Given the description of an element on the screen output the (x, y) to click on. 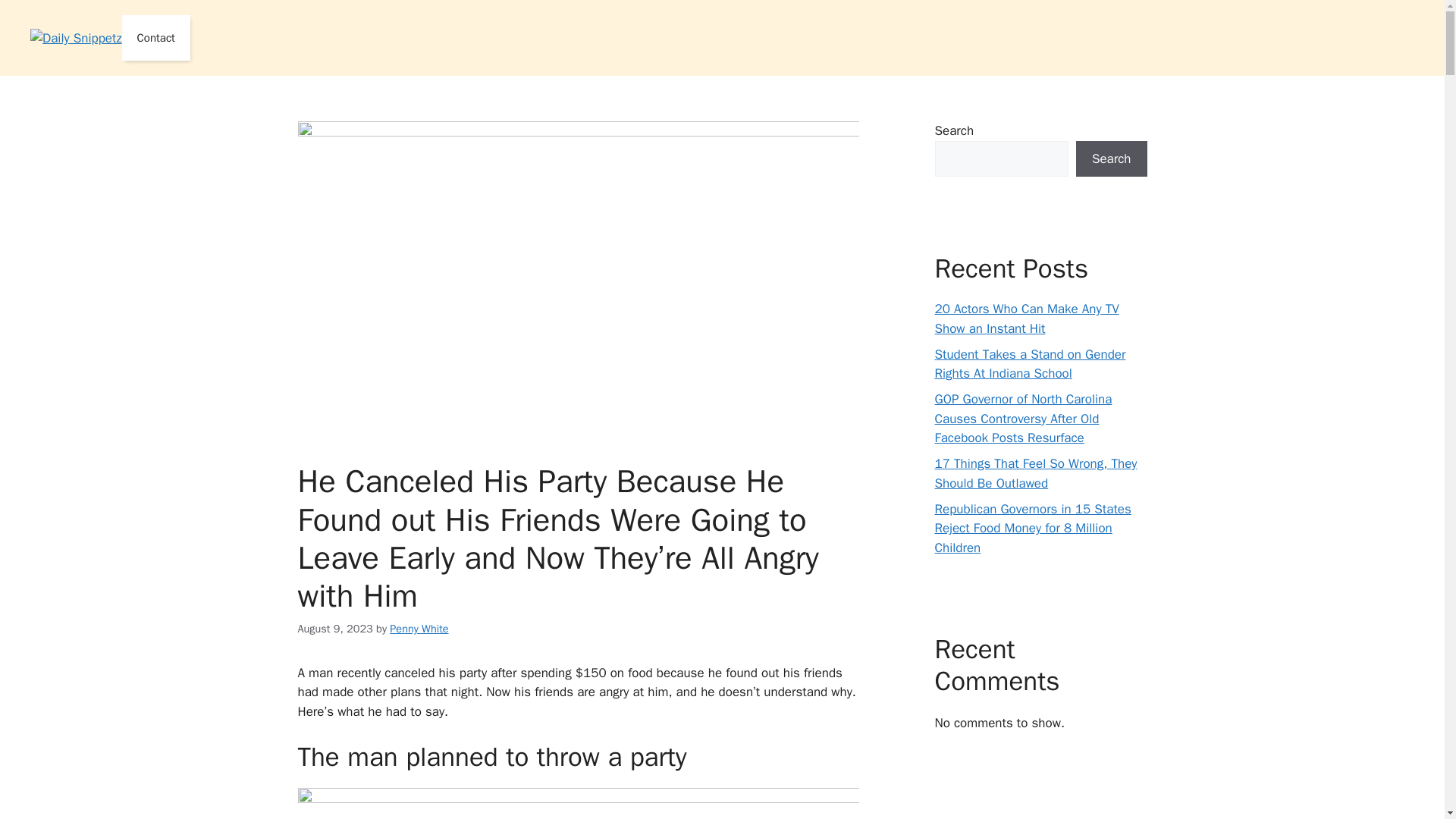
View all posts by Penny White (419, 628)
Penny White (419, 628)
20 Actors Who Can Make Any TV Show an Instant Hit (1026, 318)
Student Takes a Stand on Gender Rights At Indiana School (1029, 363)
17 Things That Feel So Wrong, They Should Be Outlawed (1035, 473)
Search (1111, 158)
Contact (156, 37)
